Given the description of an element on the screen output the (x, y) to click on. 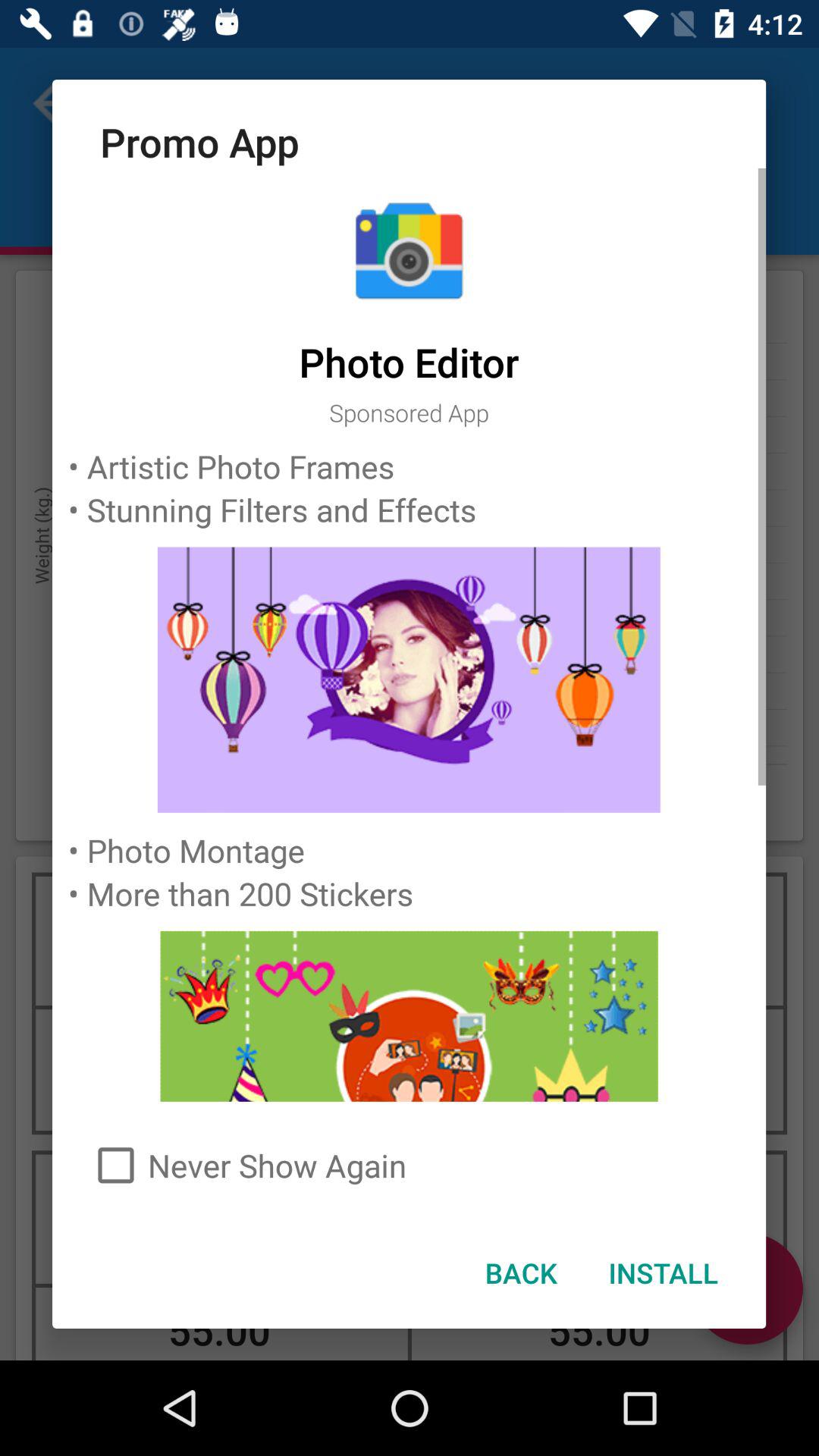
choose item below the never show again icon (663, 1272)
